Given the description of an element on the screen output the (x, y) to click on. 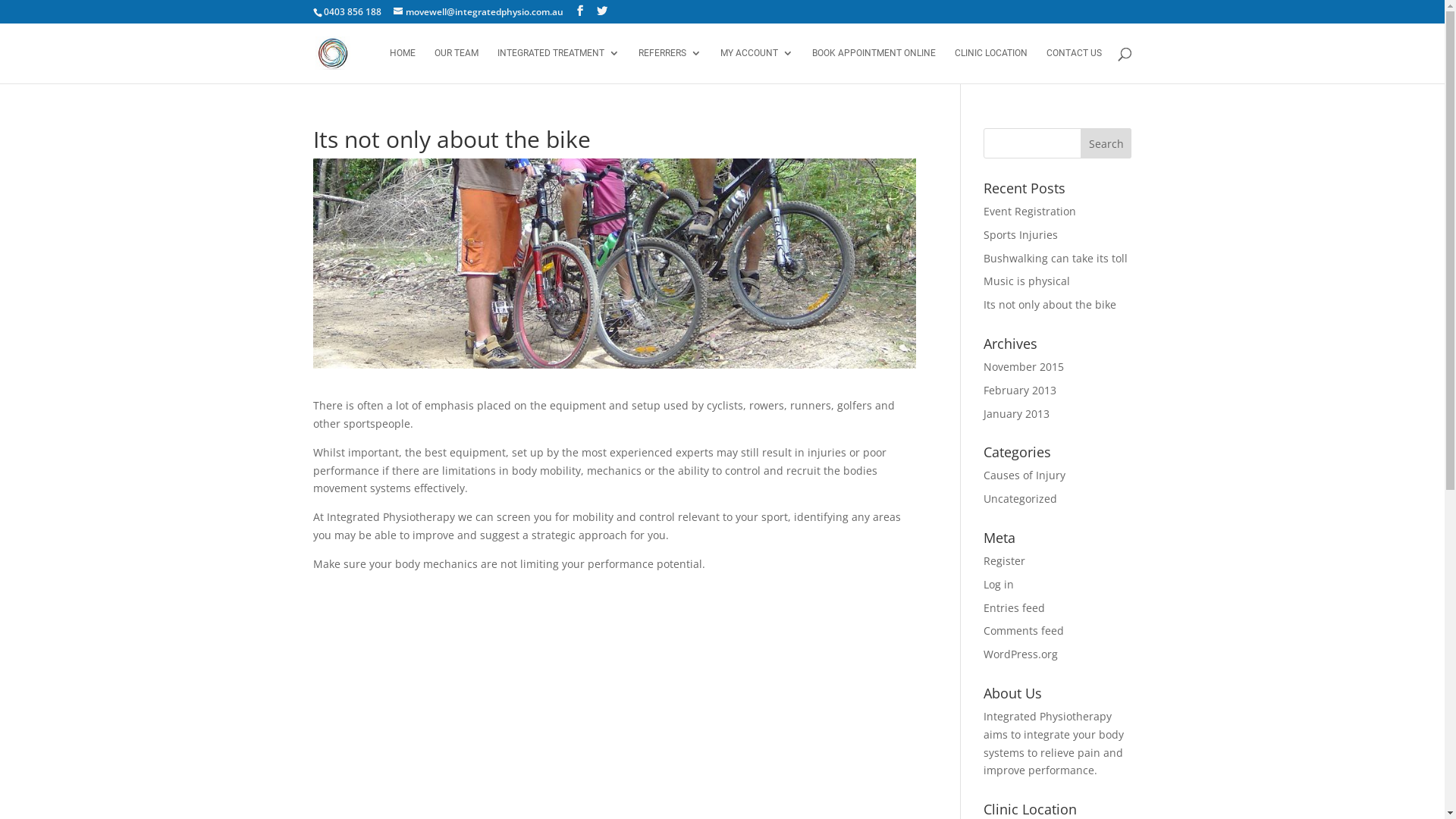
Sports Injuries Element type: text (1020, 234)
Entries feed Element type: text (1013, 607)
MY ACCOUNT Element type: text (756, 65)
Causes of Injury Element type: text (1024, 474)
HOME Element type: text (402, 65)
OUR TEAM Element type: text (455, 65)
movewell@integratedphysio.com.au Element type: text (477, 11)
November 2015 Element type: text (1023, 366)
February 2013 Element type: text (1019, 389)
Search Element type: text (1106, 143)
CLINIC LOCATION Element type: text (989, 65)
Music is physical Element type: text (1026, 280)
January 2013 Element type: text (1016, 413)
Its not only about the bike Element type: text (1049, 304)
INTEGRATED TREATMENT Element type: text (558, 65)
CONTACT US Element type: text (1073, 65)
Uncategorized Element type: text (1020, 498)
Comments feed Element type: text (1023, 630)
BOOK APPOINTMENT ONLINE Element type: text (873, 65)
Bushwalking can take its toll Element type: text (1055, 258)
Register Element type: text (1004, 560)
Event Registration Element type: text (1029, 210)
REFERRERS Element type: text (669, 65)
WordPress.org Element type: text (1020, 653)
Log in Element type: text (998, 584)
